Given the description of an element on the screen output the (x, y) to click on. 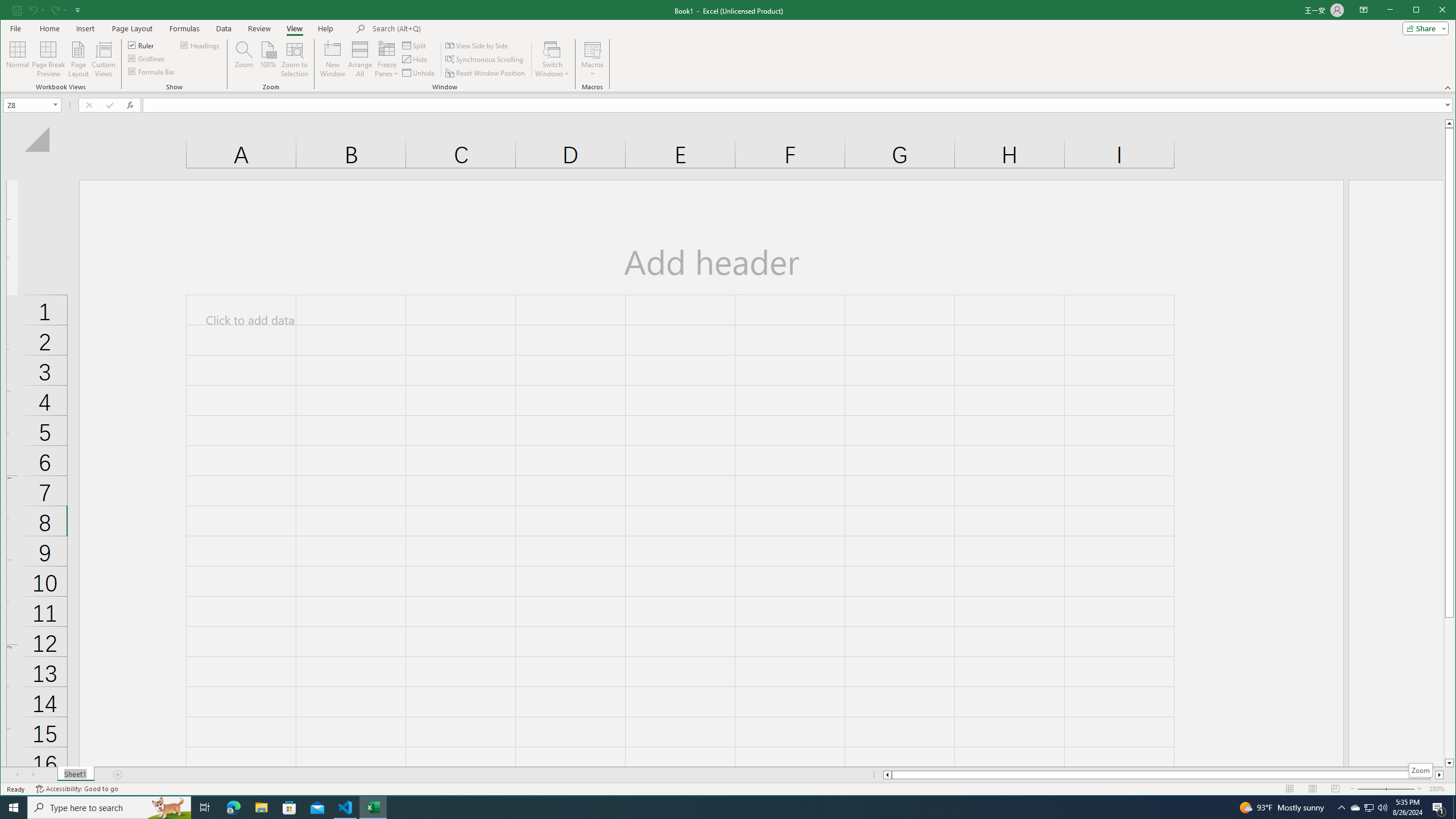
Macros (592, 59)
Page Layout (132, 28)
100% (267, 59)
Class: MsoCommandBar (728, 45)
